Given the description of an element on the screen output the (x, y) to click on. 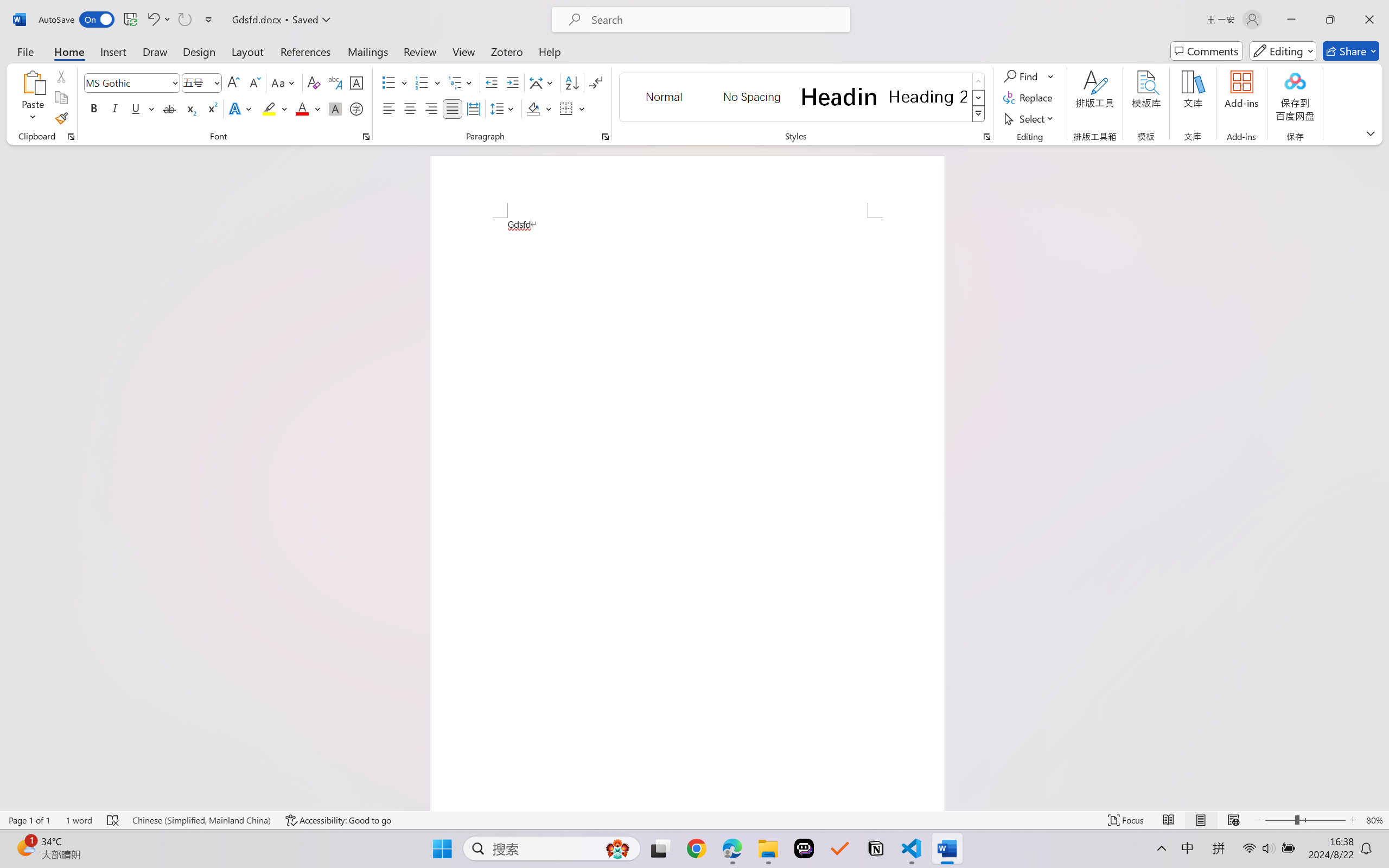
Page 1 content (686, 513)
